Given the description of an element on the screen output the (x, y) to click on. 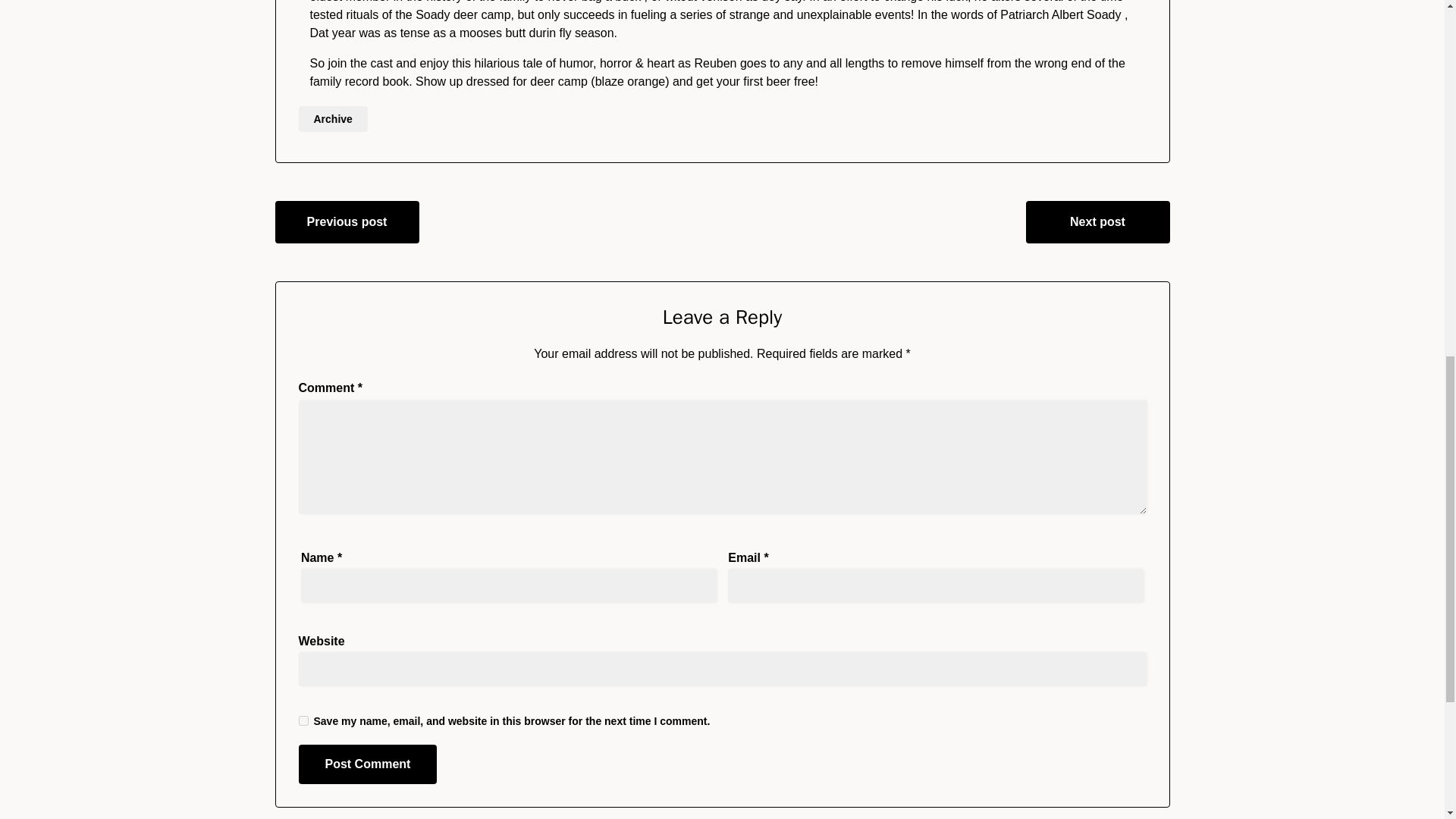
Archive (333, 118)
Post Comment (368, 763)
Post Comment (368, 763)
Next post (1097, 221)
Previous post (347, 221)
yes (303, 720)
